Given the description of an element on the screen output the (x, y) to click on. 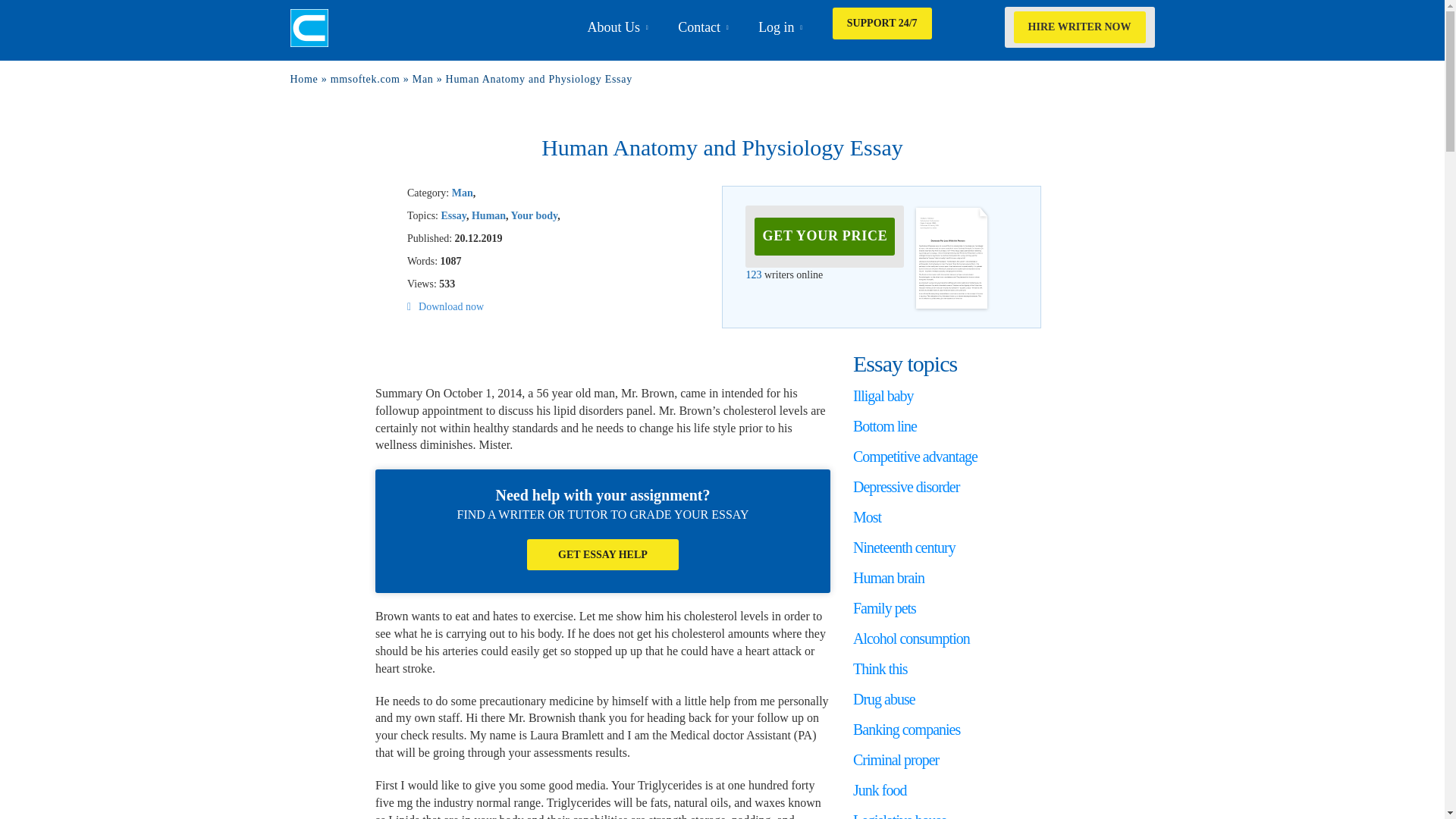
Man (462, 193)
Bottom line (885, 425)
GET ESSAY HELP (602, 554)
Man (422, 79)
Essay (453, 215)
HIRE WRITER NOW (1079, 26)
GET YOUR PRICE (824, 236)
mmsoftek.com (365, 79)
Most (866, 516)
Home (303, 79)
